Given the description of an element on the screen output the (x, y) to click on. 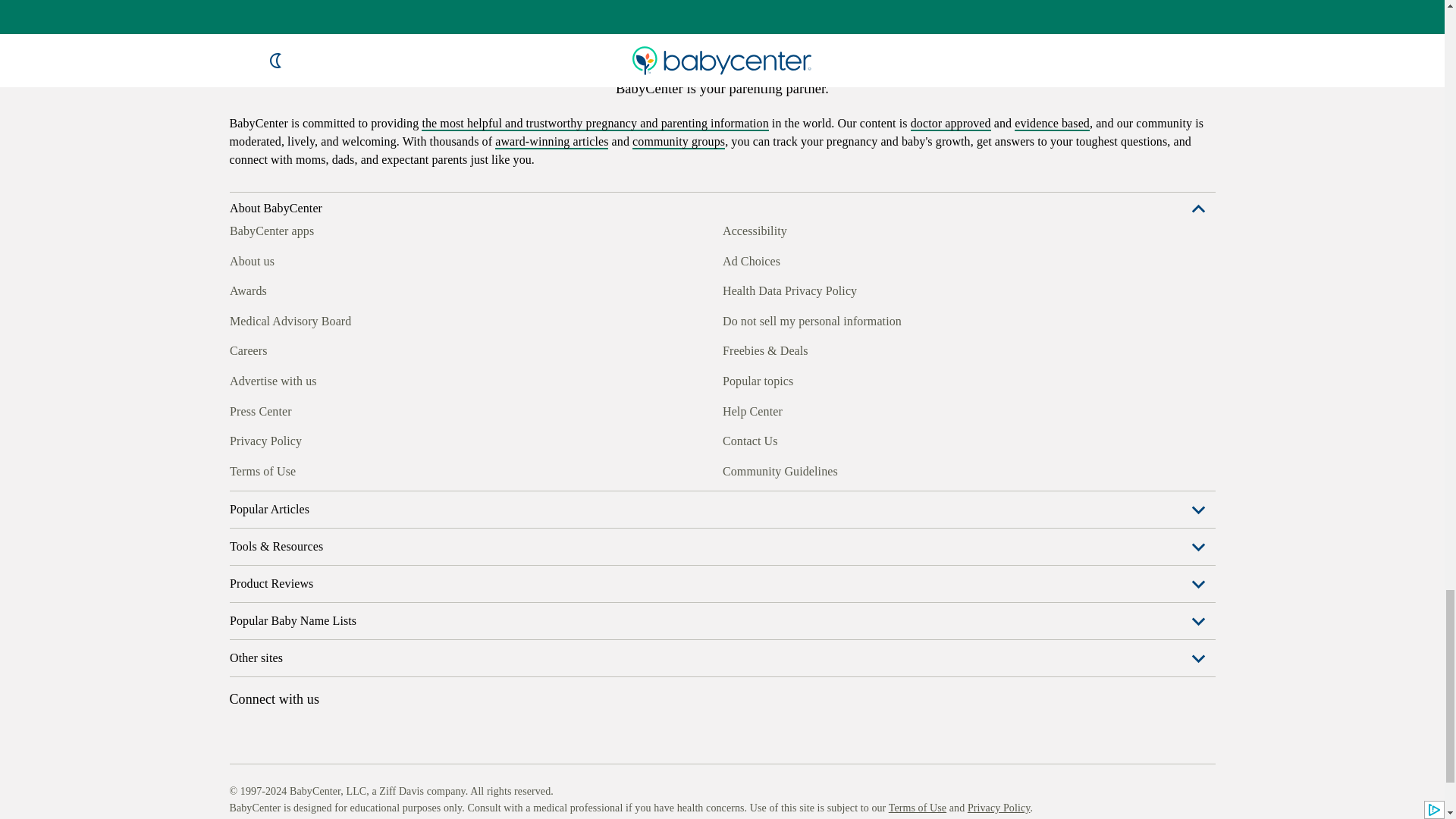
BabyCenter Twitter feed (379, 468)
BabyCenter YouTube channel (344, 468)
BabyCenter Facebook page (239, 468)
BabyCenter Pinterest board (309, 468)
BabyCenter Instagram feed (274, 468)
